Given the description of an element on the screen output the (x, y) to click on. 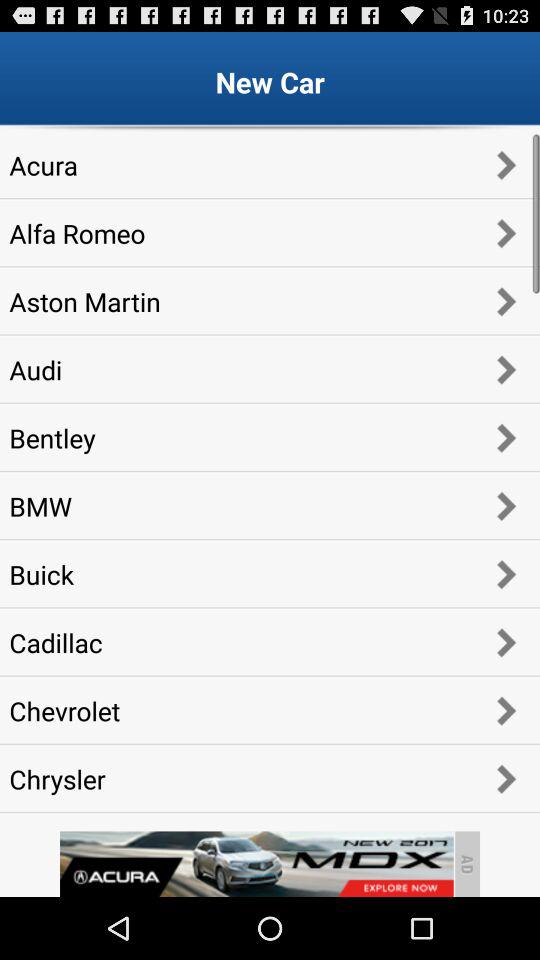
see an image (256, 864)
